Given the description of an element on the screen output the (x, y) to click on. 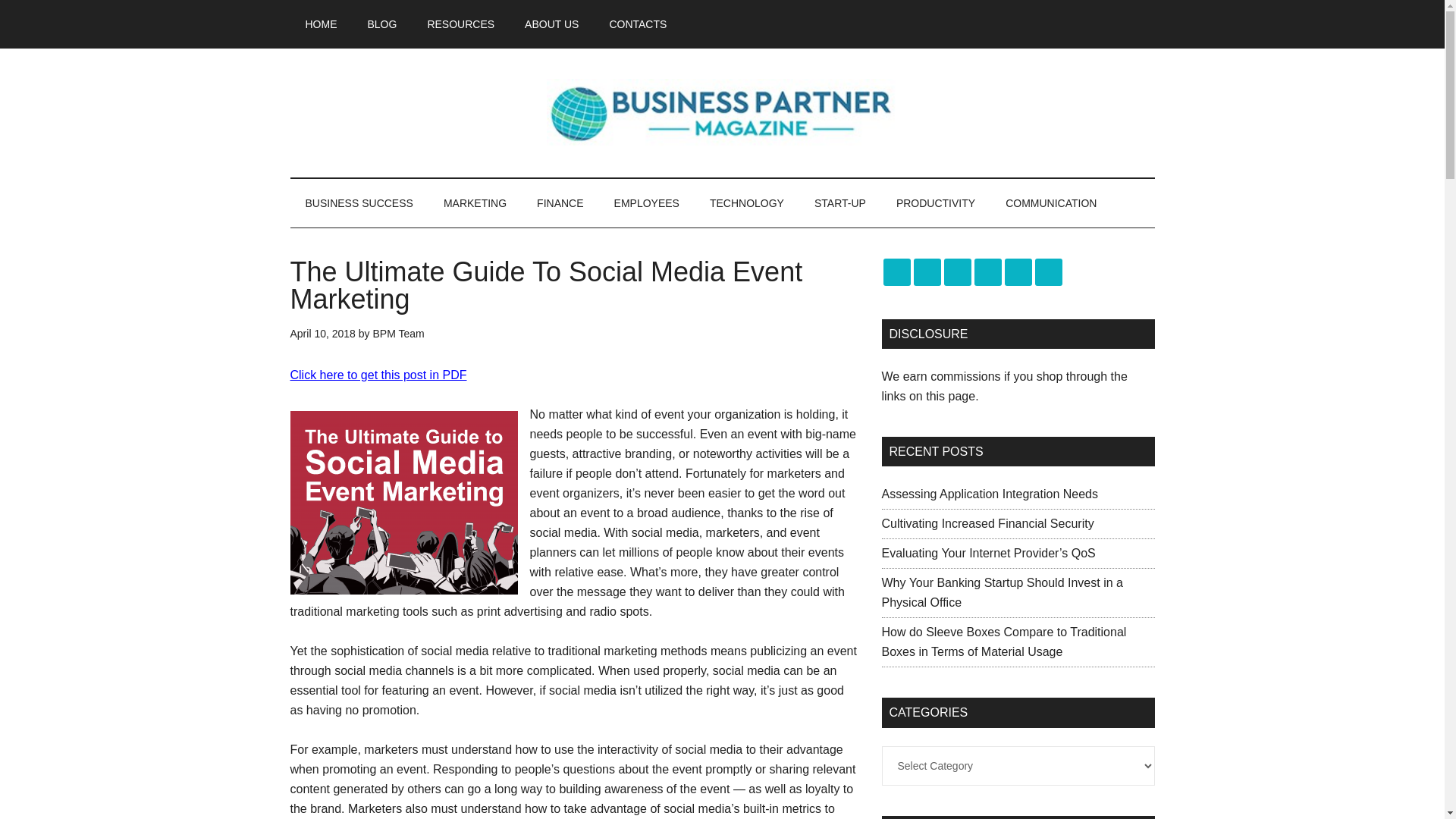
PRODUCTIVITY (935, 203)
FINANCE (559, 203)
Click here to get this post in PDF (377, 374)
BUSINESS SUCCESS (358, 203)
TECHNOLOGY (746, 203)
HOME (320, 24)
Business Partner Magazine (721, 112)
START-UP (839, 203)
RESOURCES (460, 24)
ABOUT US (551, 24)
BLOG (382, 24)
EMPLOYEES (646, 203)
MARKETING (474, 203)
CONTACTS (637, 24)
BPM Team (397, 333)
